Given the description of an element on the screen output the (x, y) to click on. 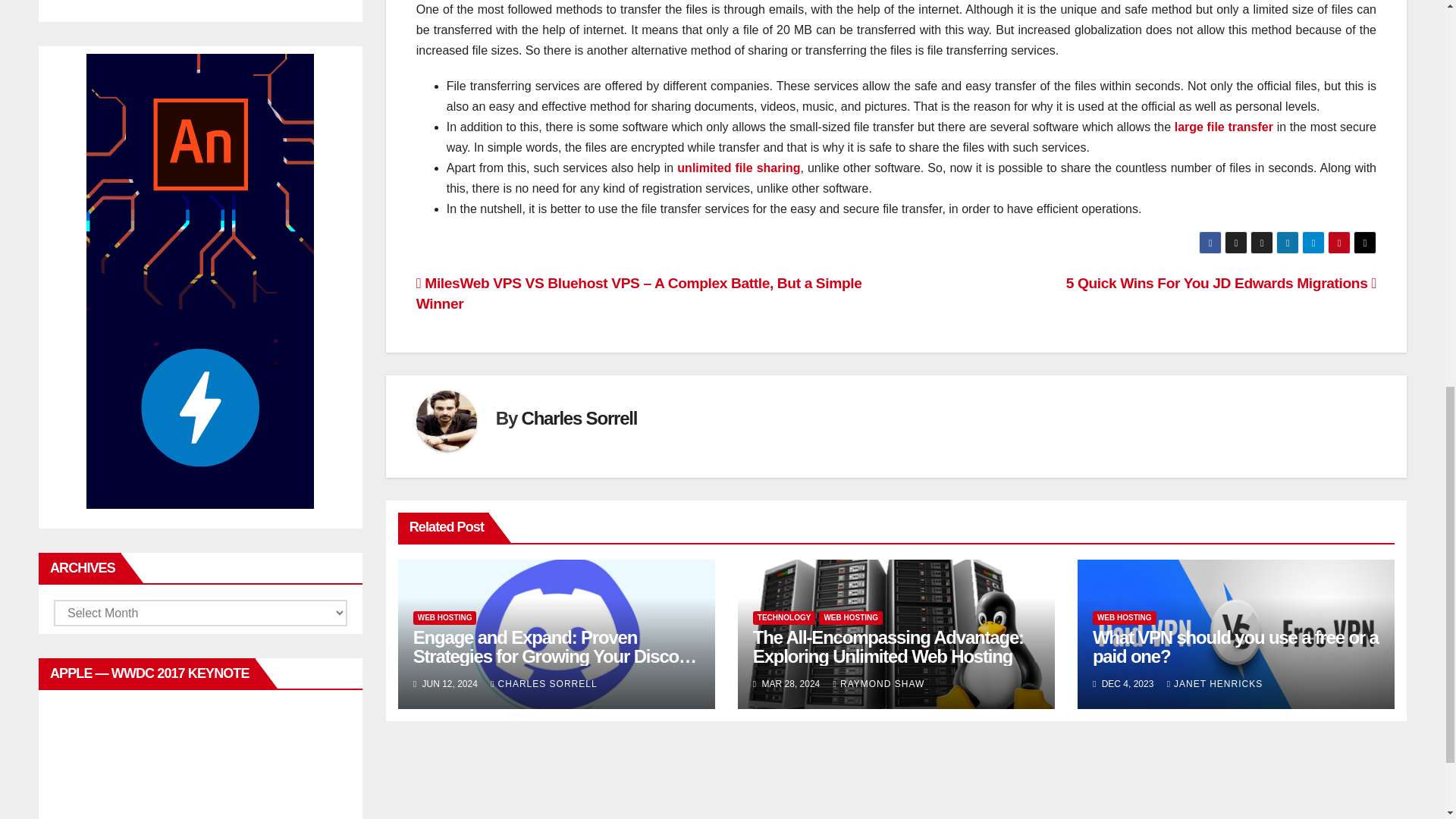
Permalink to: What VPN should you use a free or a paid one? (1235, 646)
